Given the description of an element on the screen output the (x, y) to click on. 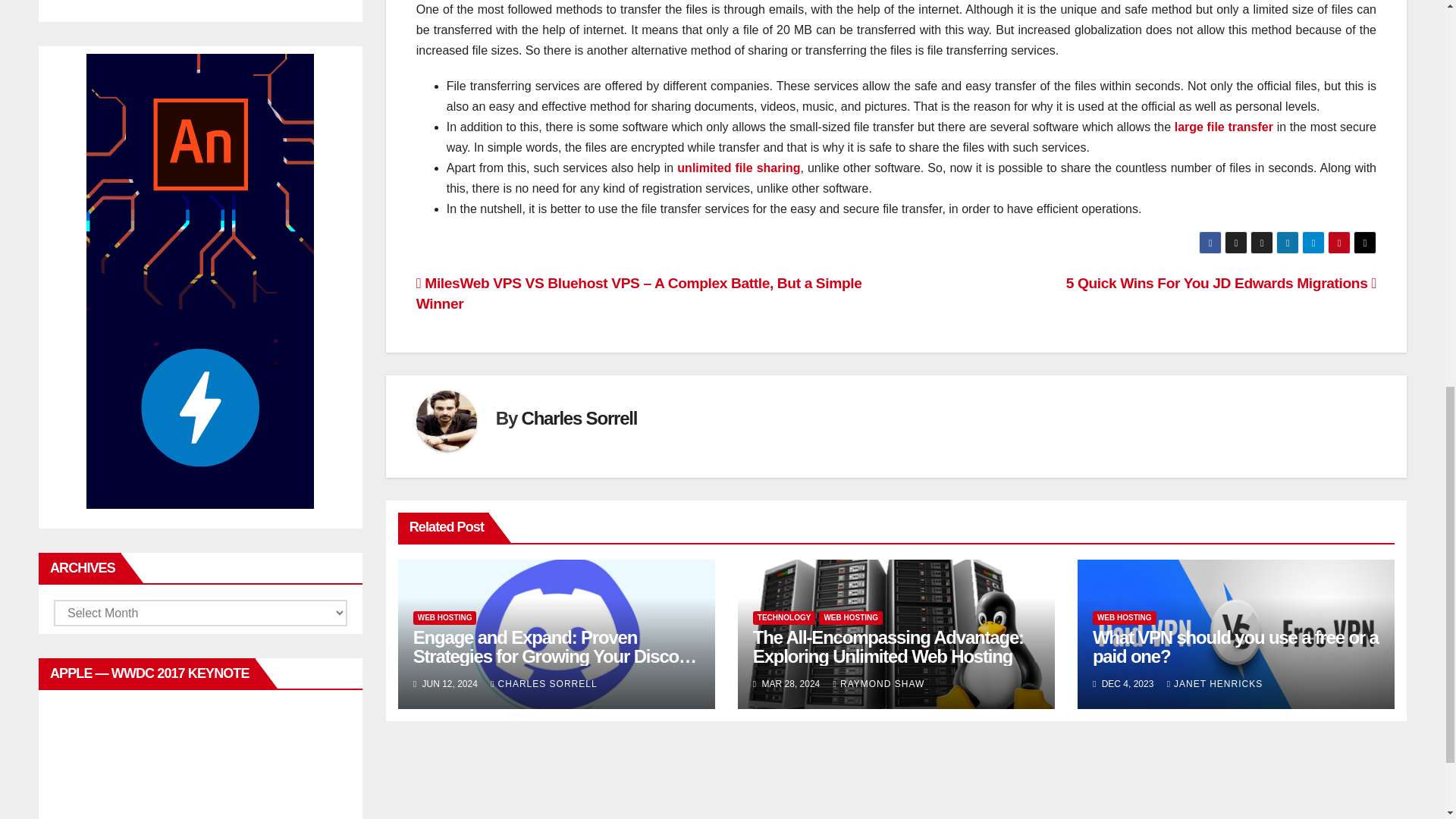
Permalink to: What VPN should you use a free or a paid one? (1235, 646)
